Given the description of an element on the screen output the (x, y) to click on. 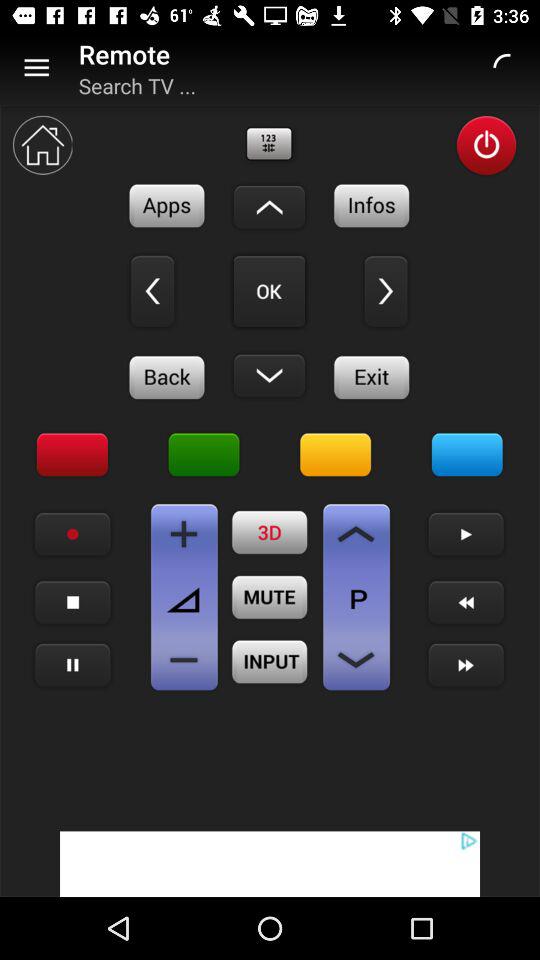
go next (386, 291)
